Given the description of an element on the screen output the (x, y) to click on. 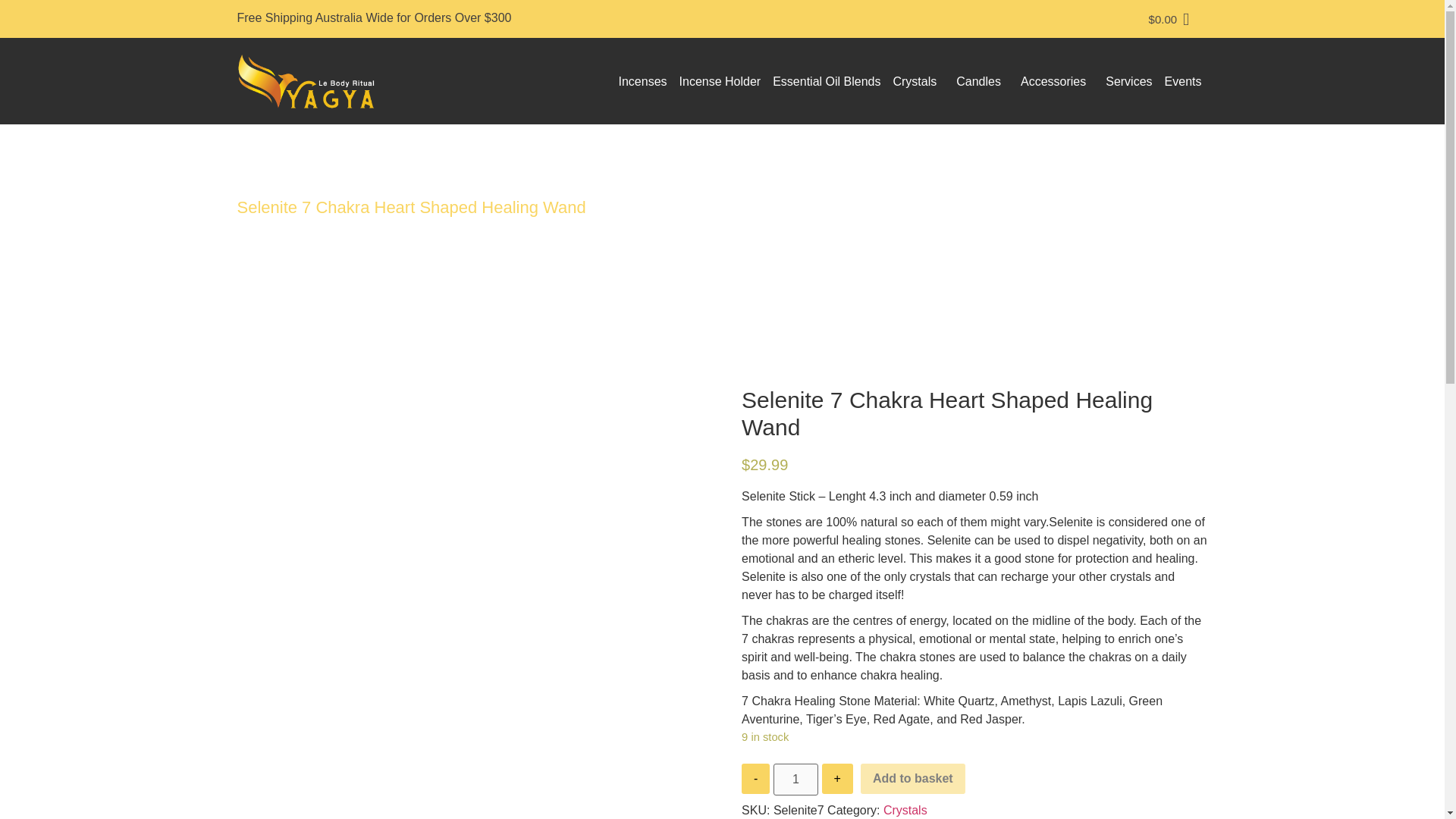
1 (794, 779)
Incenses (642, 81)
Crystals (905, 809)
Services (1128, 81)
Essential Oil Blends (826, 81)
Events (1183, 81)
Crystals (918, 81)
- (755, 778)
Accessories (1056, 81)
Incense Holder (719, 81)
